Given the description of an element on the screen output the (x, y) to click on. 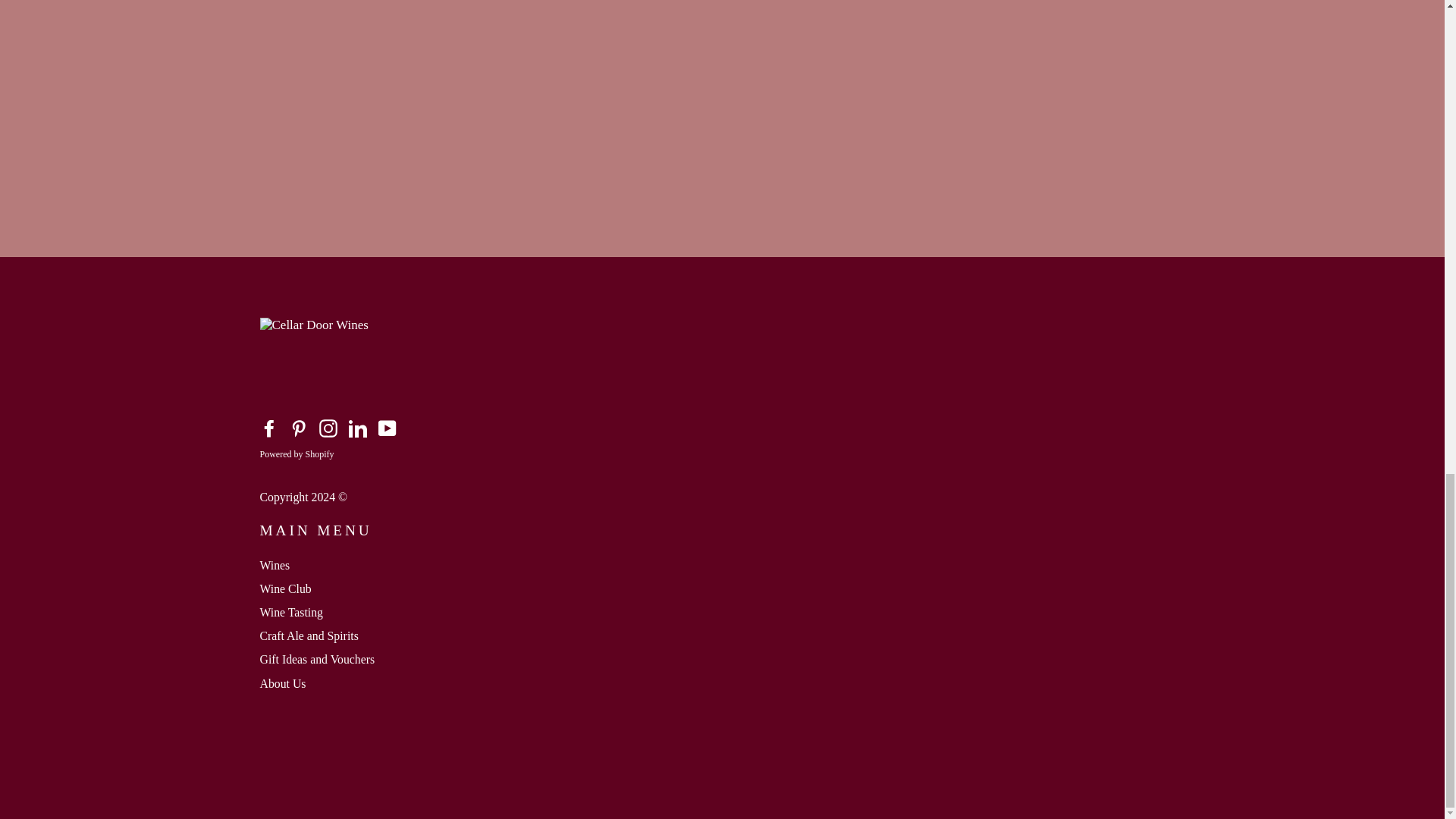
Cellar Door Wines on LinkedIn (357, 428)
Cellar Door Wines on Instagram (327, 428)
Cellar Door Wines on Facebook (268, 428)
Cellar Door Wines on YouTube (386, 428)
Cellar Door Wines on Pinterest (298, 428)
